Given the description of an element on the screen output the (x, y) to click on. 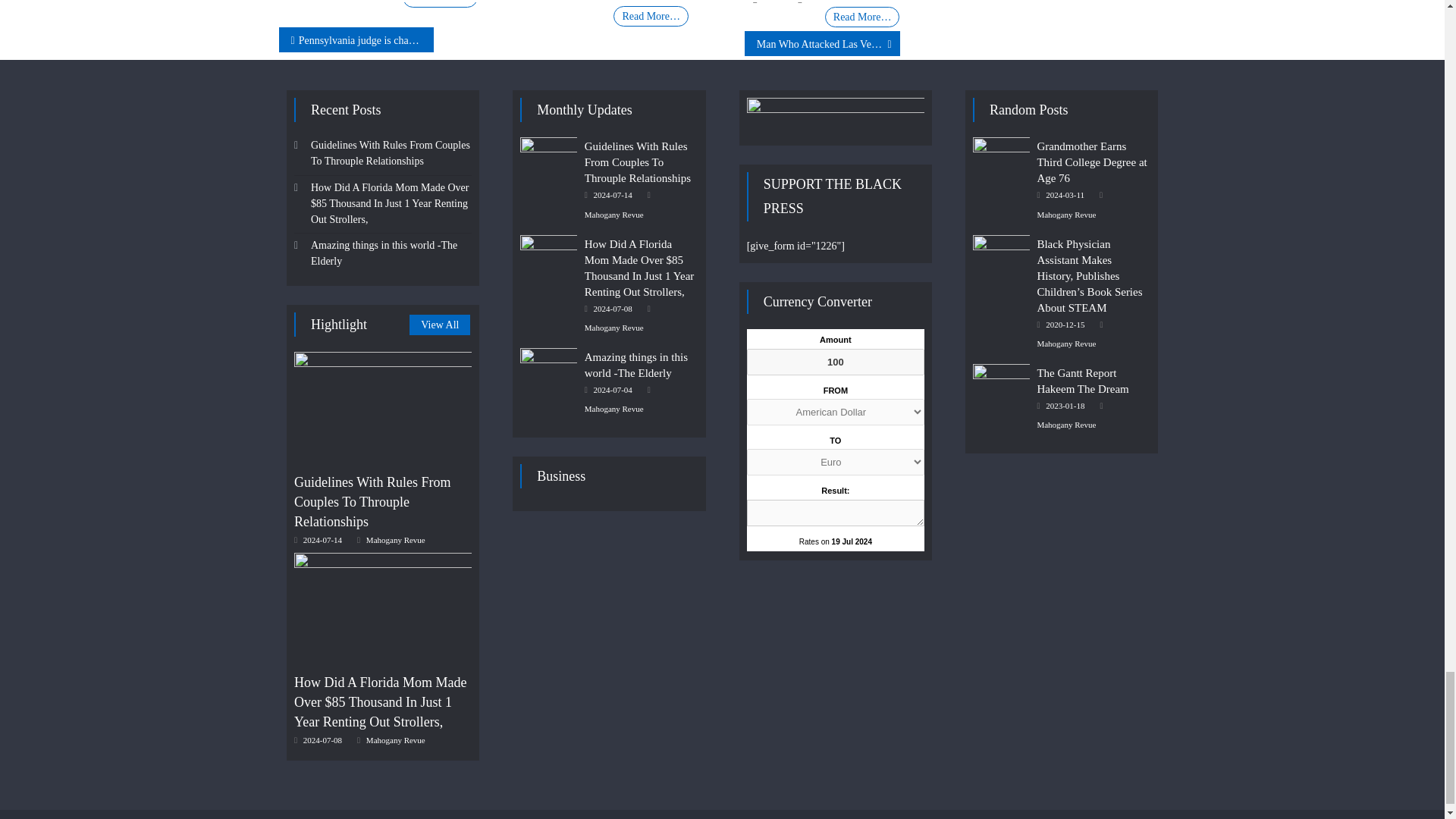
100 (835, 361)
Guidelines With Rules From Couples To Throuple Relationships (382, 407)
Amazing things in this world -The Elderly (547, 368)
Guidelines With Rules From Couples To Throuple Relationships (547, 157)
